Given the description of an element on the screen output the (x, y) to click on. 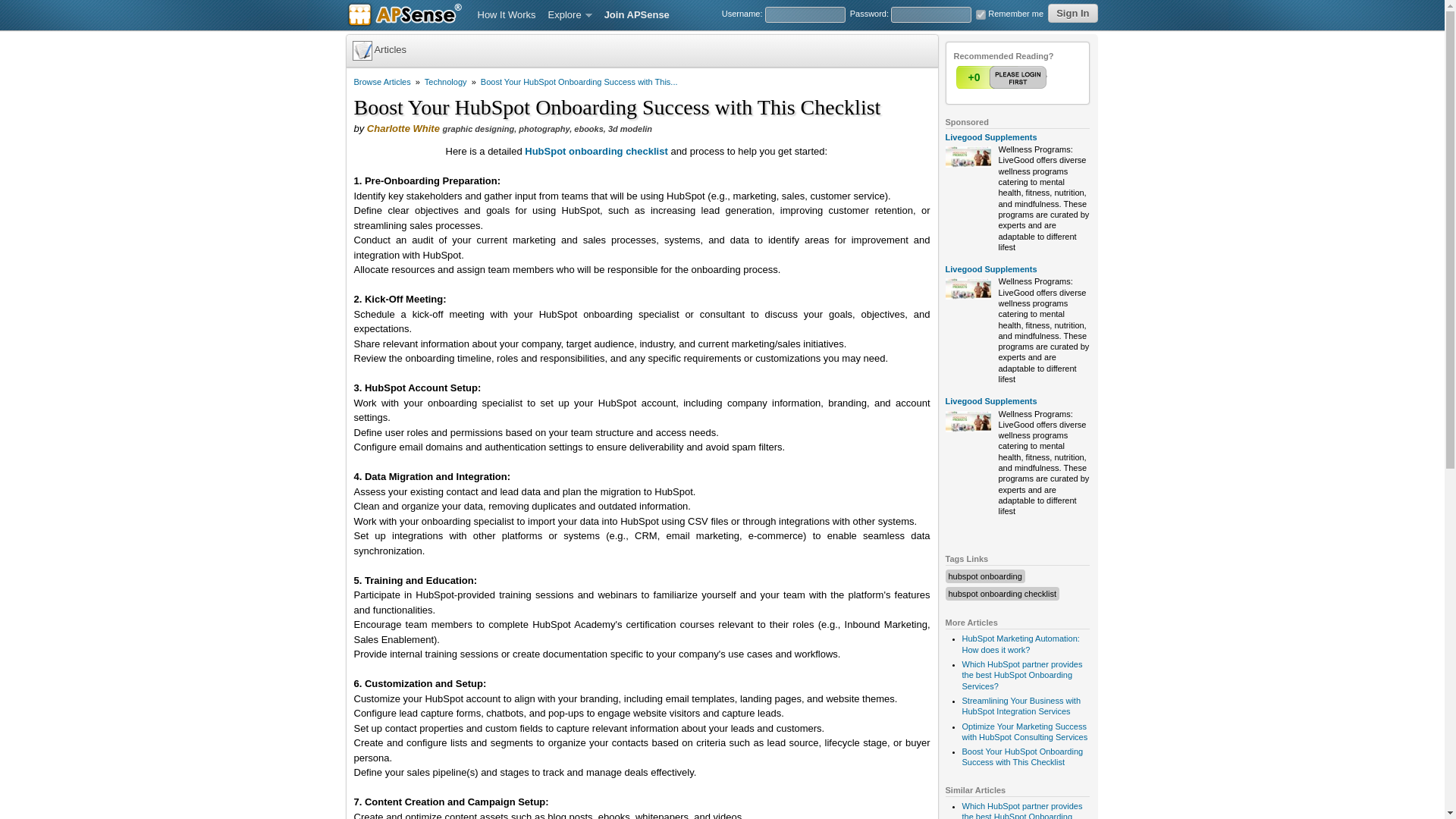
Browse Articles (381, 81)
How It Works (506, 15)
hubspot onboarding checklist (1001, 593)
Votes Up (973, 77)
Livegood Supplements (990, 268)
Vote Down (1031, 77)
1 (1002, 77)
1 (980, 14)
Streamlining Your Business with HubSpot Integration Services (1020, 705)
Vote Up (1002, 77)
Join APSense (636, 15)
hubspot onboarding (984, 575)
Technology (446, 81)
1 (1002, 77)
